Given the description of an element on the screen output the (x, y) to click on. 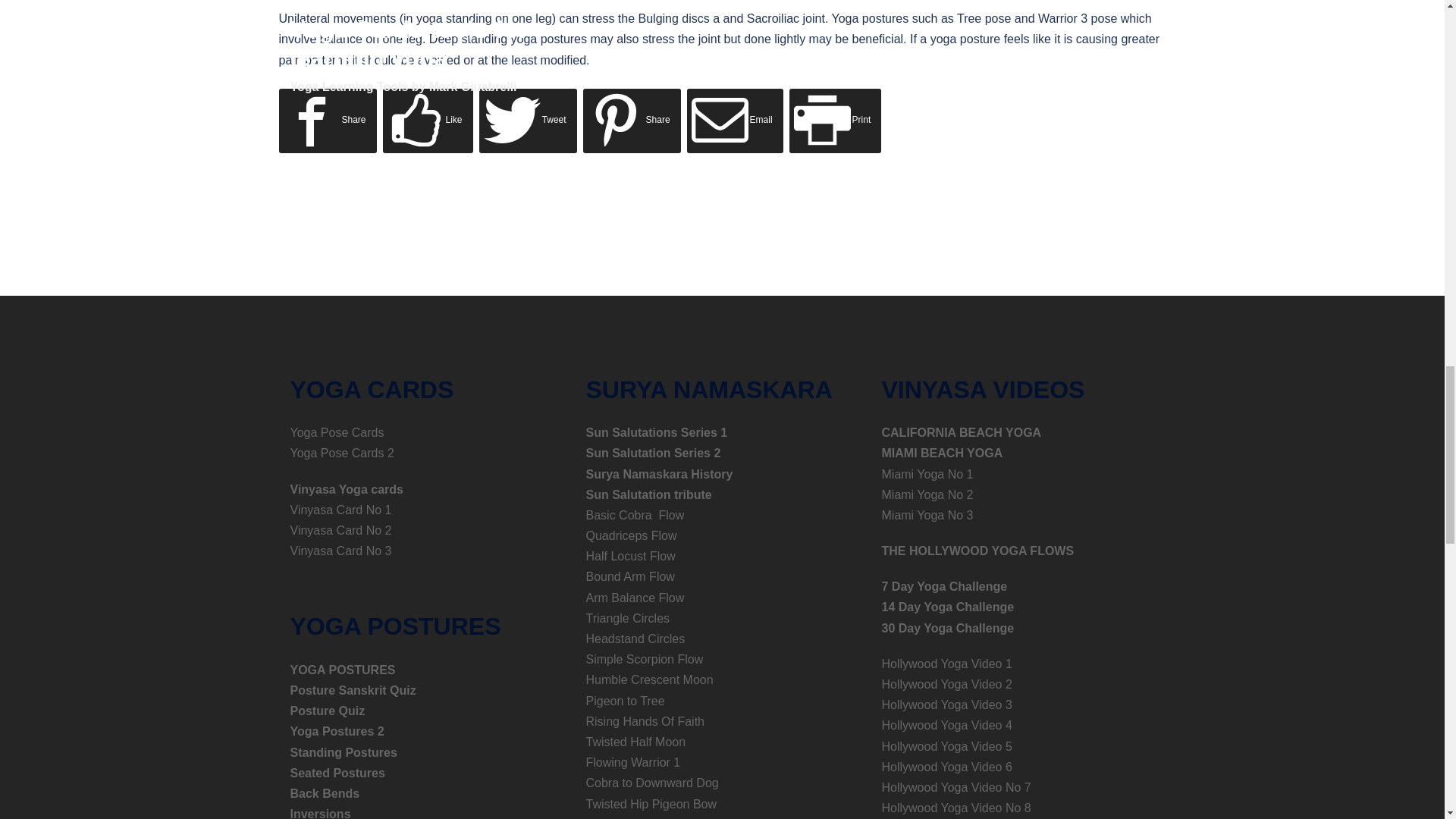
Like on Facebook (427, 119)
Print via PrintFriendly (835, 119)
Share on Pinterest (632, 119)
Tweet (527, 119)
Share on Facebook (328, 119)
Send by email (735, 119)
